Given the description of an element on the screen output the (x, y) to click on. 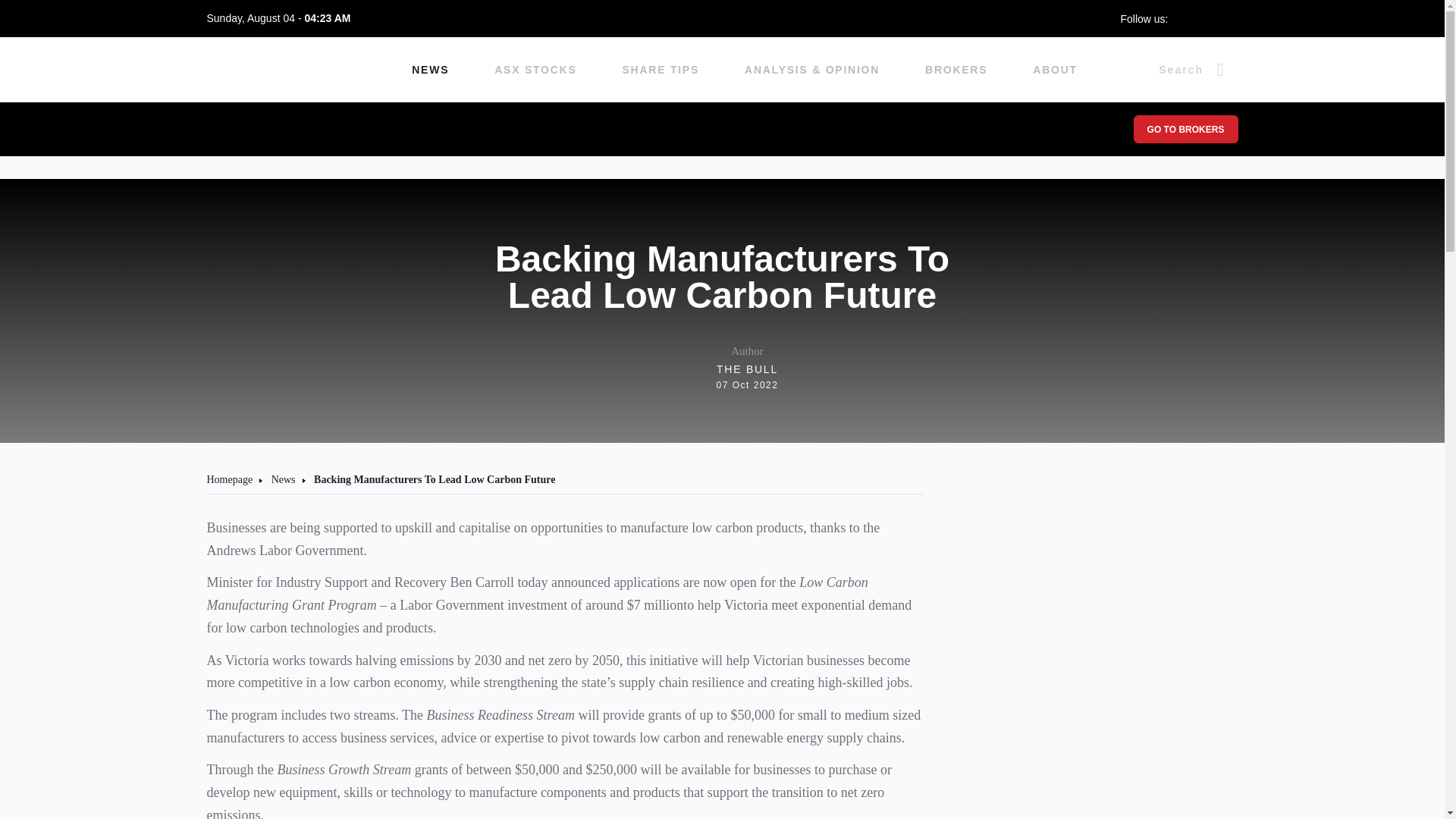
SHARE TIPS (722, 367)
GO TO BROKERS (661, 69)
ASX STOCKS (1184, 129)
NEWS (535, 69)
Homepage (430, 69)
BROKERS (228, 479)
ABOUT (955, 69)
News (1054, 69)
